Given the description of an element on the screen output the (x, y) to click on. 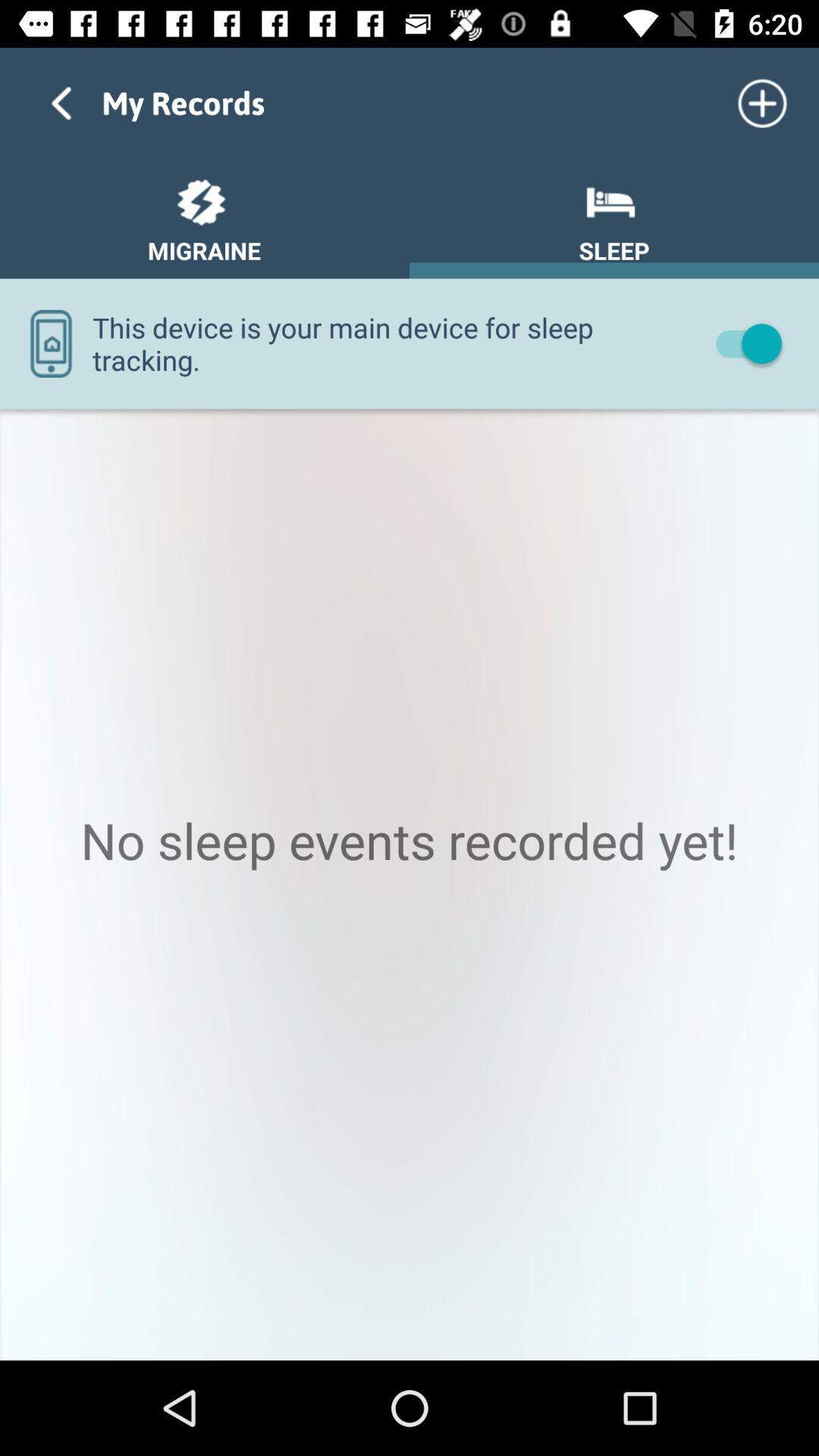
toggle on or off (741, 343)
